Given the description of an element on the screen output the (x, y) to click on. 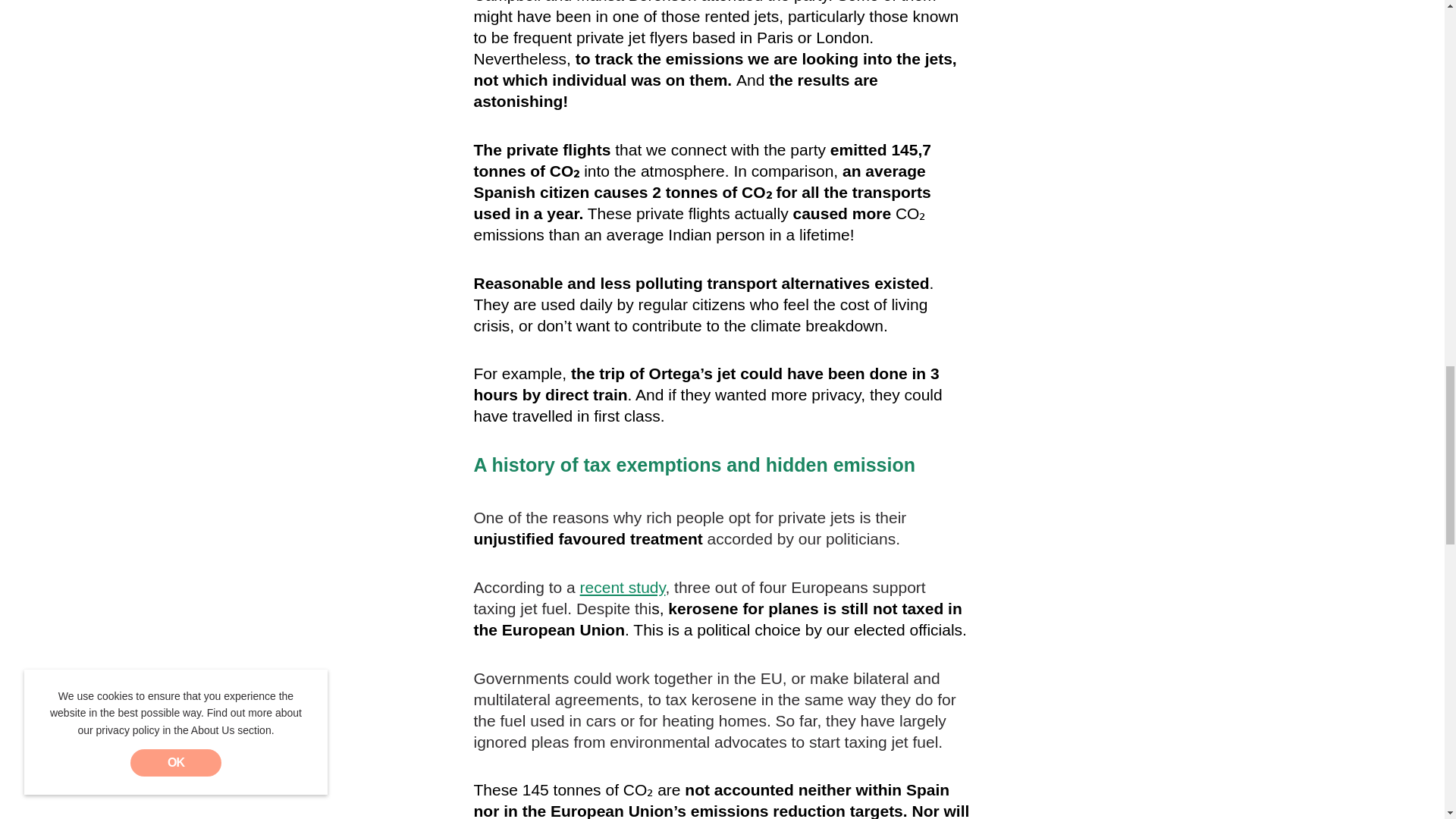
recent study (622, 587)
